Given the description of an element on the screen output the (x, y) to click on. 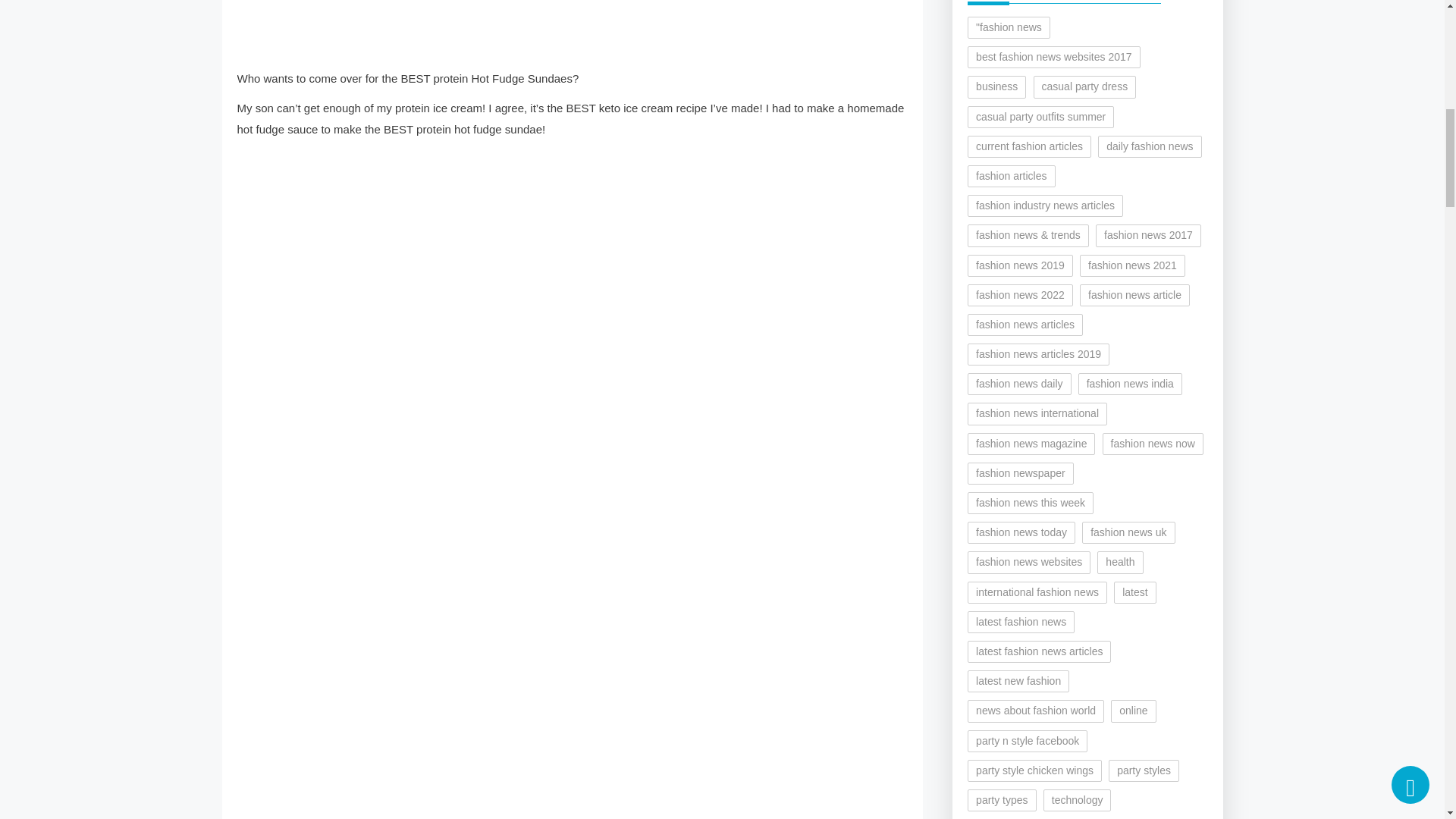
"fashion news (1008, 27)
